Given the description of an element on the screen output the (x, y) to click on. 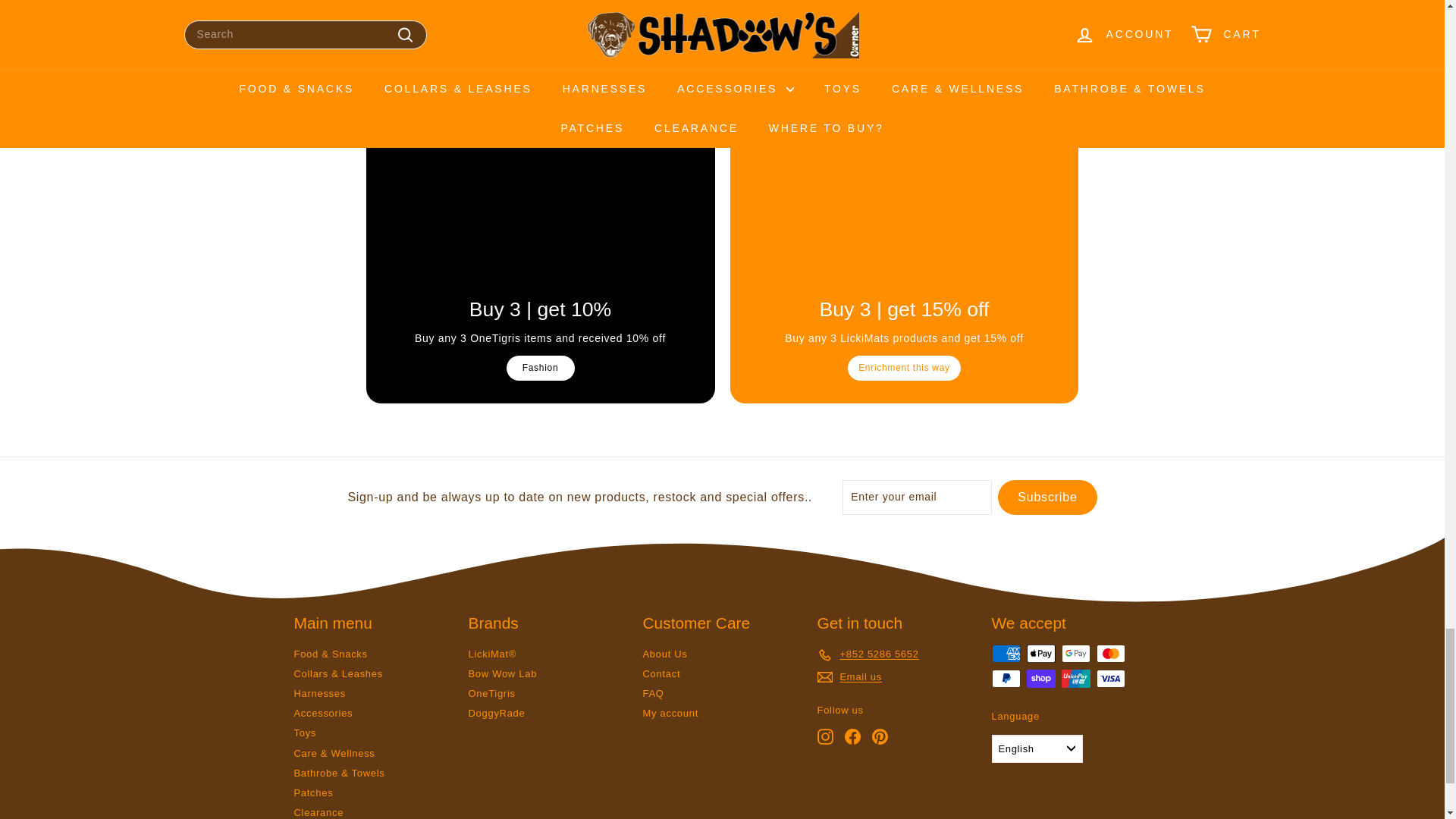
Shadow's Corner Ltd. on Facebook (852, 736)
Shadow's Corner Ltd. on Instagram (824, 736)
Shadow's Corner Ltd. on Pinterest (880, 736)
